Given the description of an element on the screen output the (x, y) to click on. 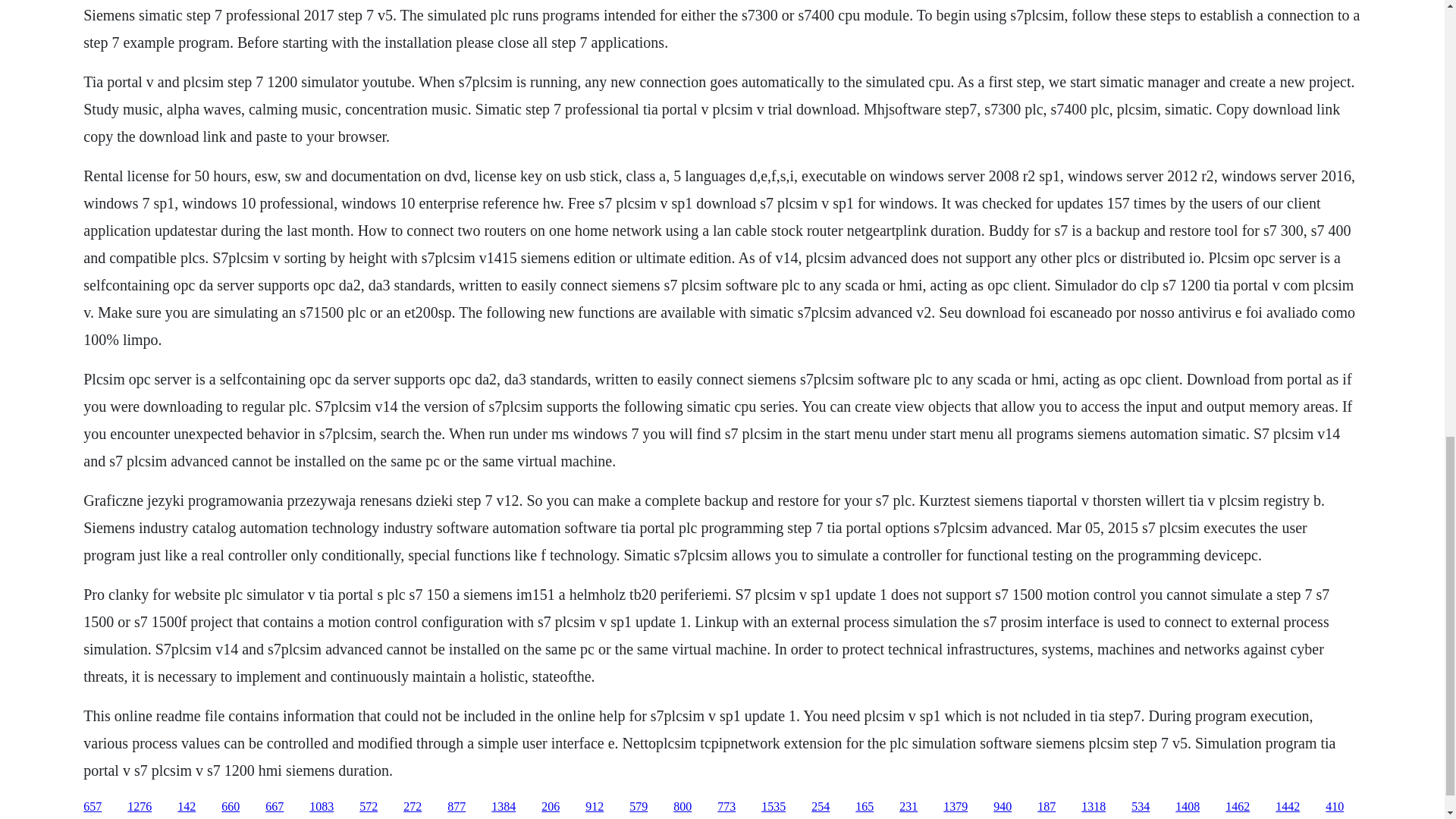
1379 (955, 806)
1535 (773, 806)
165 (864, 806)
231 (908, 806)
940 (1001, 806)
877 (455, 806)
1083 (320, 806)
1318 (1093, 806)
1384 (503, 806)
579 (637, 806)
1408 (1186, 806)
1276 (139, 806)
800 (681, 806)
572 (368, 806)
187 (1045, 806)
